Given the description of an element on the screen output the (x, y) to click on. 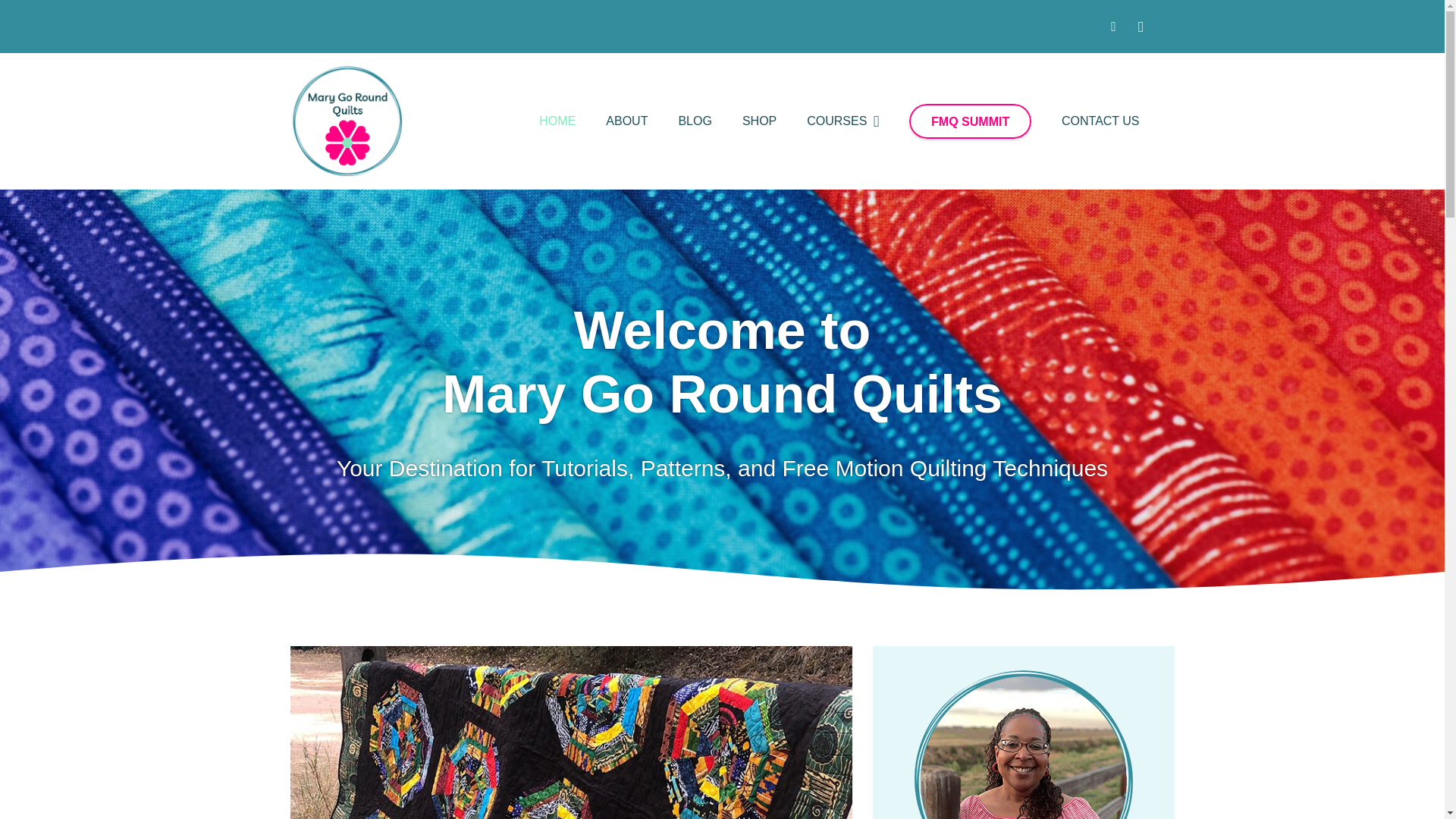
Instagram (1140, 26)
SHOP (759, 121)
COURSES (842, 121)
FMQ SUMMIT (969, 121)
CONTACT US (1100, 121)
BLOG (694, 121)
HOME (557, 121)
Facebook (1112, 26)
ABOUT (626, 121)
